Given the description of an element on the screen output the (x, y) to click on. 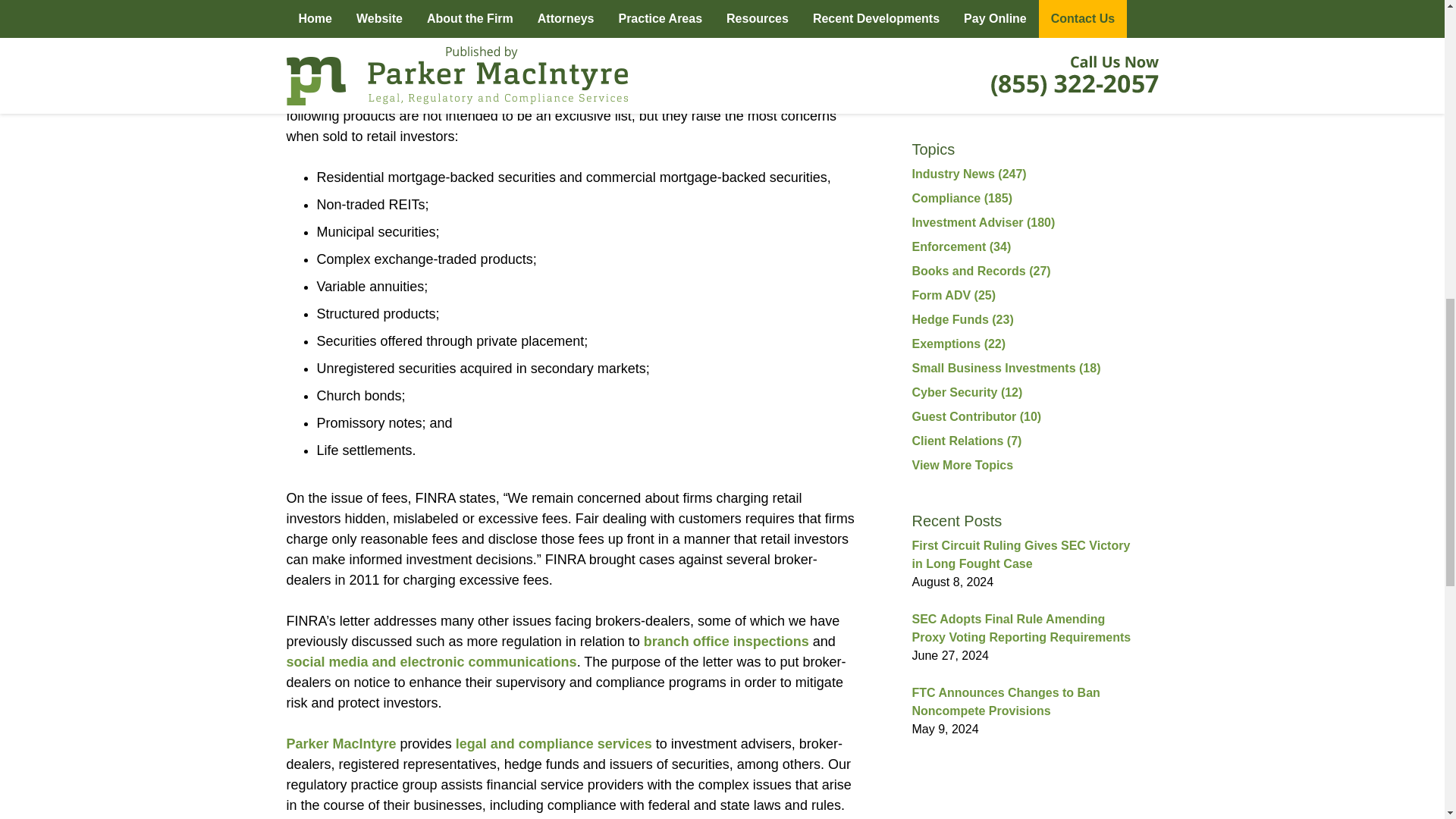
Justia (1066, 92)
LinkedIn (1025, 92)
branch office inspections (726, 641)
Twitter (986, 92)
legal and compliance services (551, 743)
Feed (1105, 92)
Facebook (944, 92)
social media and electronic communications (431, 661)
Parker MacIntyre (341, 743)
